Given the description of an element on the screen output the (x, y) to click on. 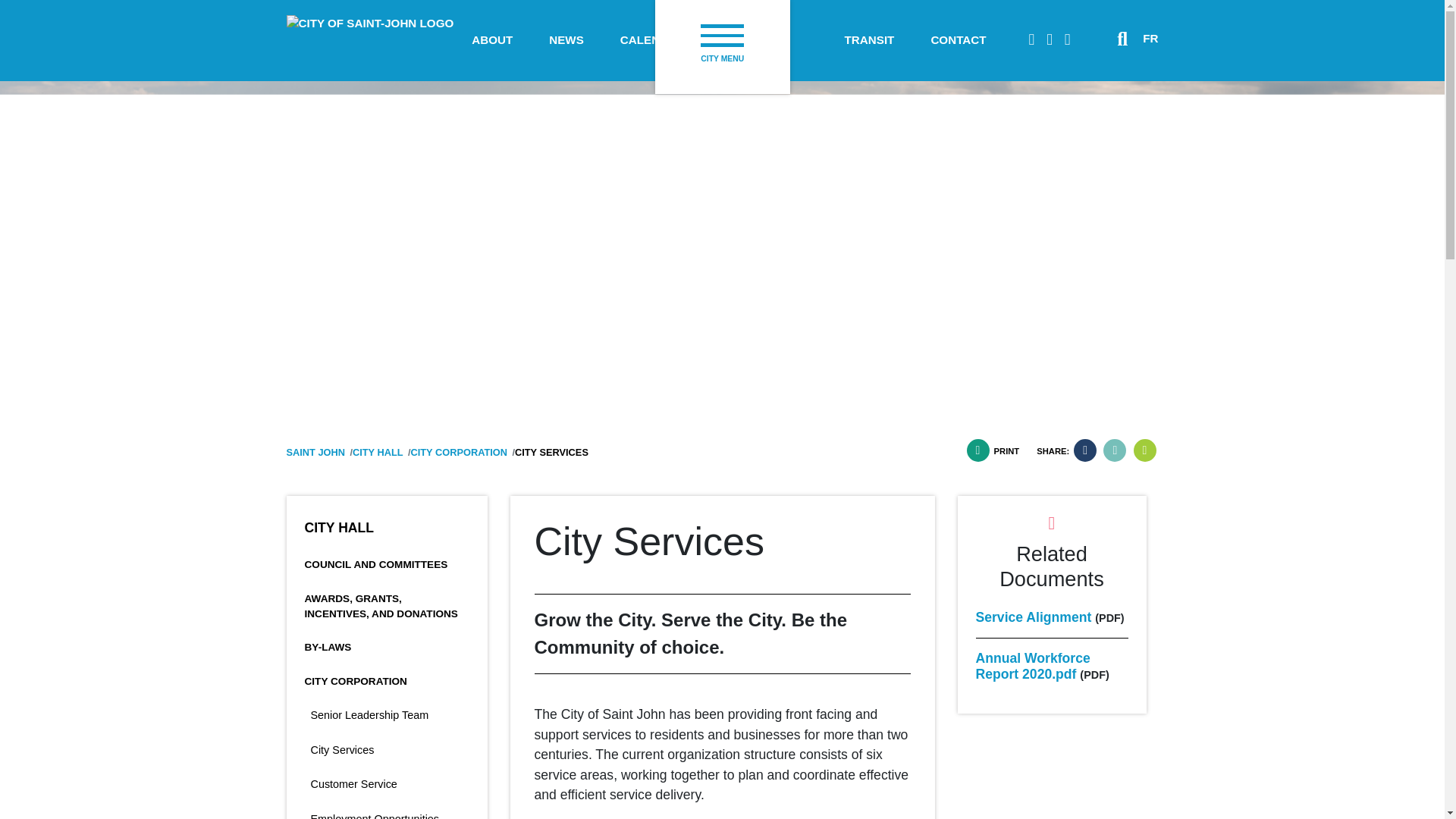
ABOUT (491, 40)
CALENDAR (652, 40)
NEWS (566, 40)
Share by Email (1144, 449)
CONTACT (958, 40)
TRANSIT (869, 40)
FR (1144, 38)
